Given the description of an element on the screen output the (x, y) to click on. 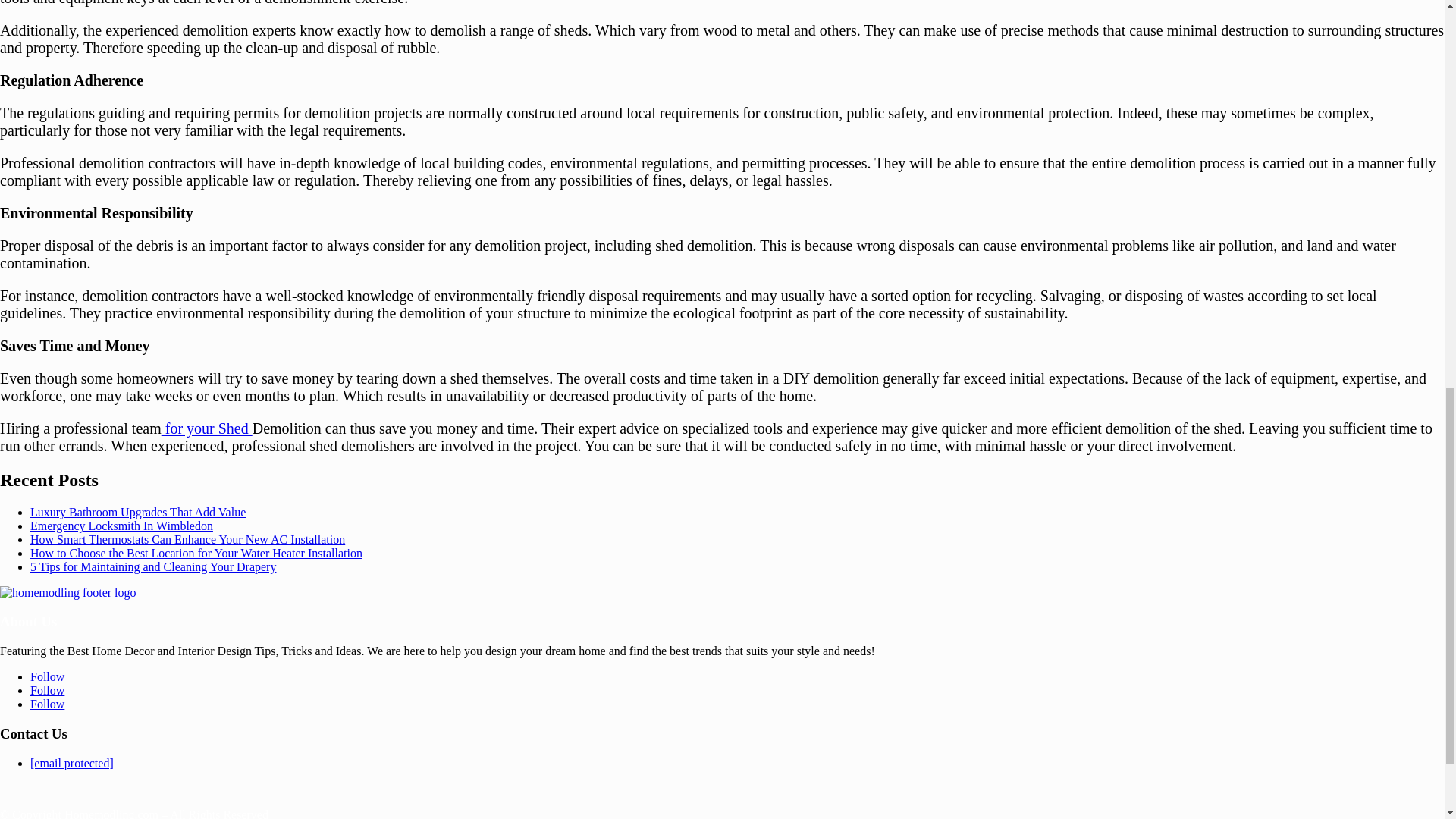
Follow (47, 676)
Follow (47, 689)
Follow on LinkedIn (47, 689)
Follow on Instagram (47, 703)
How Smart Thermostats Can Enhance Your New AC Installation (187, 539)
Emergency Locksmith In Wimbledon (121, 525)
Follow on Facebook (47, 676)
Follow (47, 703)
Luxury Bathroom Upgrades That Add Value (138, 512)
